Given the description of an element on the screen output the (x, y) to click on. 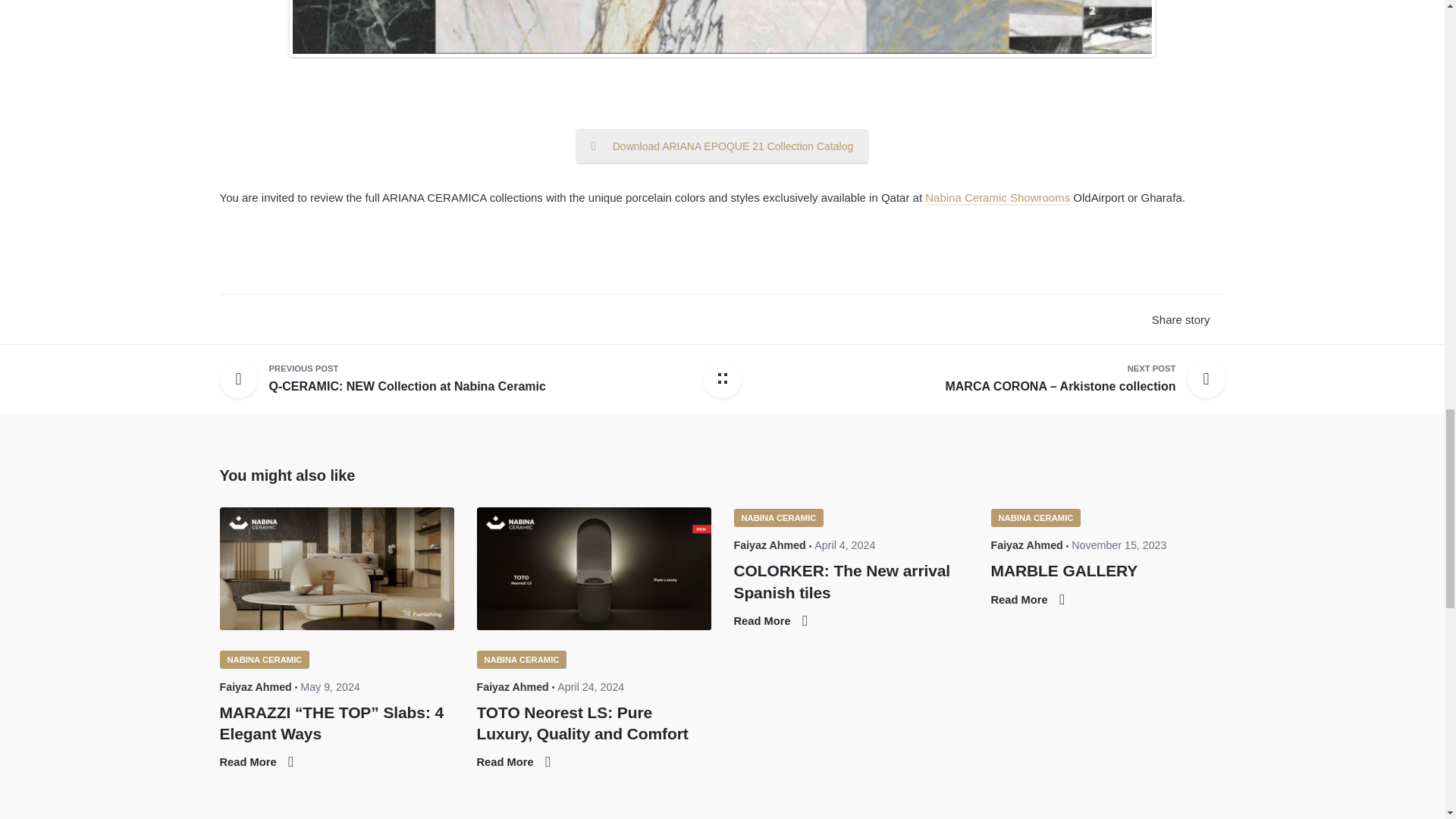
Download ARIANA EPOQUE 21 Collection Catalog (722, 145)
NABINA CERAMIC (405, 378)
Nabina Ceramic Showrooms (264, 659)
